Given the description of an element on the screen output the (x, y) to click on. 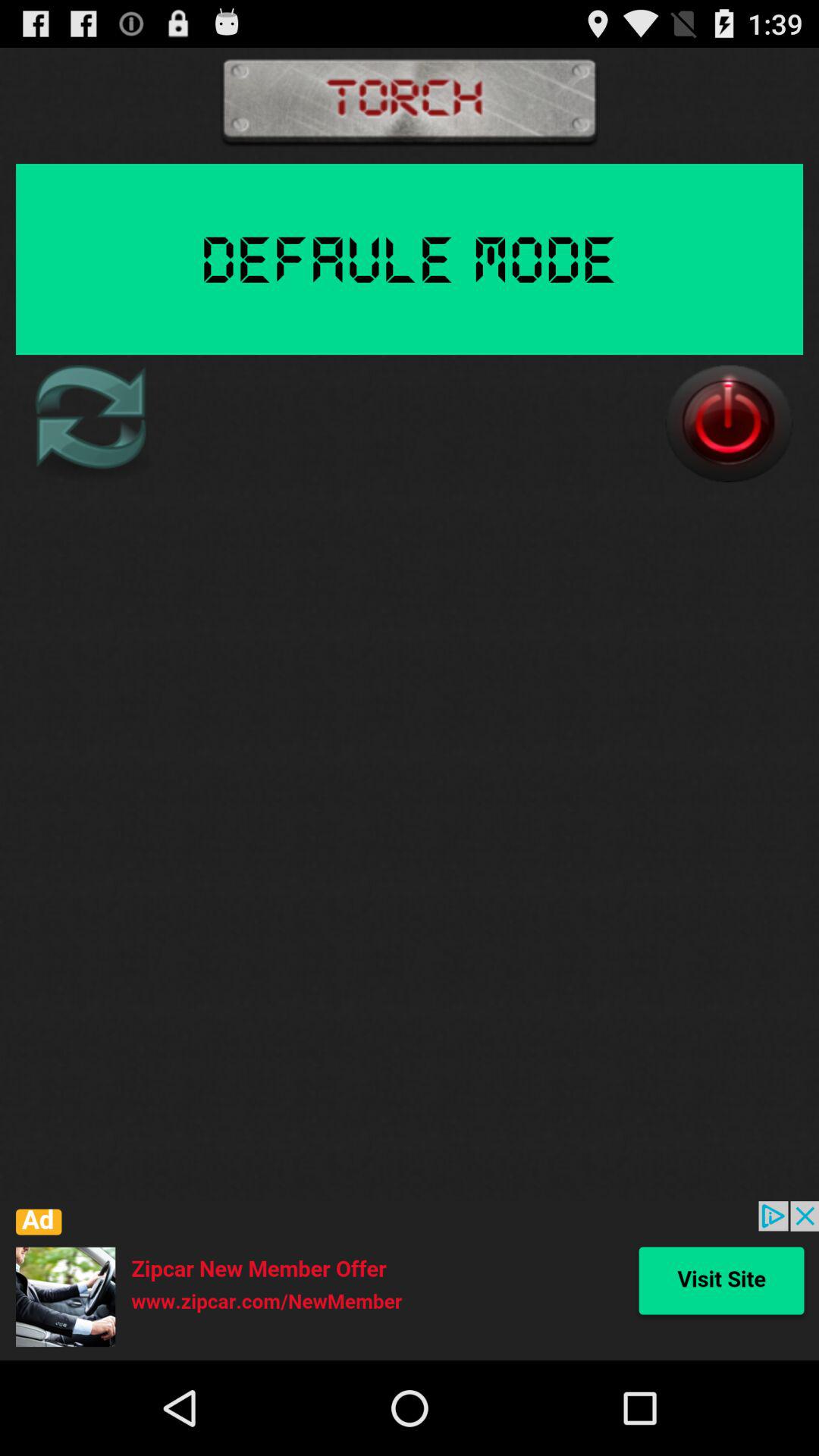
view advertisement (409, 1280)
